Given the description of an element on the screen output the (x, y) to click on. 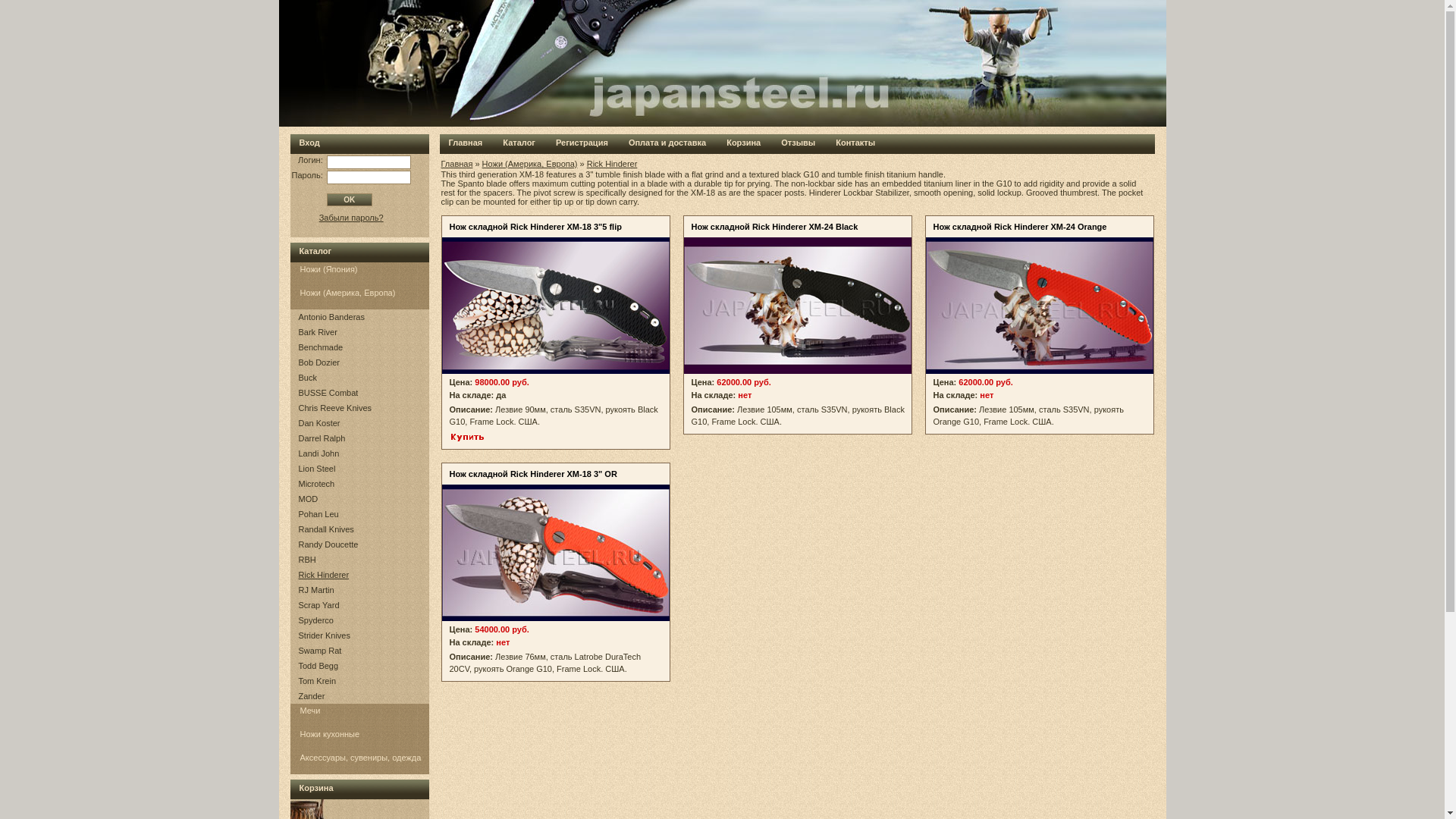
Pohan Leu (318, 513)
OK (349, 199)
Rick Hinderer (323, 574)
BUSSE Combat (328, 392)
Benchmade (320, 347)
Bob Dozier (318, 361)
Microtech (316, 483)
Chris Reeve Knives (335, 407)
Zander (311, 696)
Dan Koster (319, 422)
Antonio Banderas (331, 316)
Bark River (317, 331)
Darrel Ralph (322, 438)
RBH (306, 559)
Randy Doucette (328, 543)
